Given the description of an element on the screen output the (x, y) to click on. 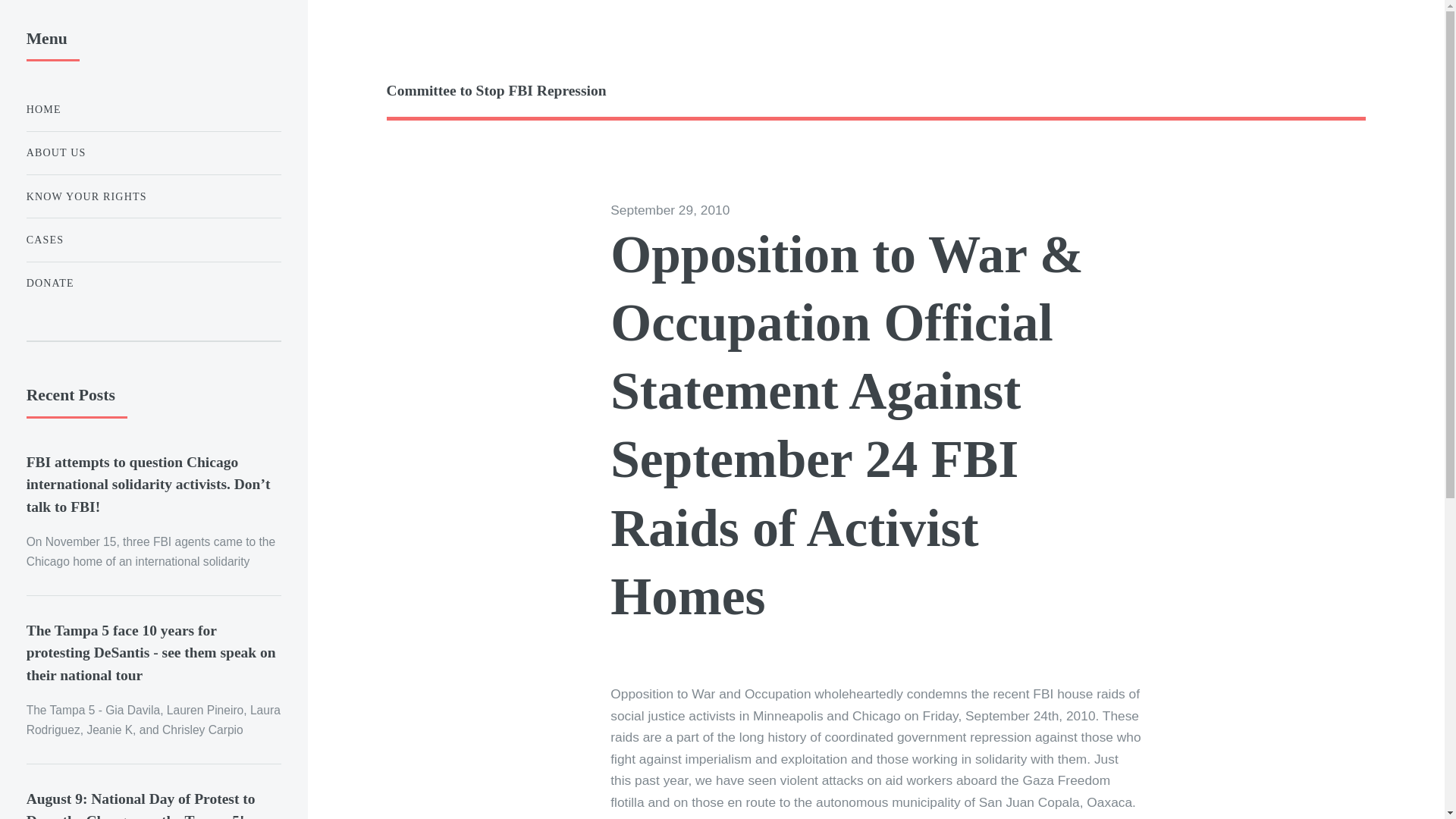
ABOUT US (153, 153)
HOME (153, 109)
Committee to Stop FBI Repression (631, 90)
KNOW YOUR RIGHTS (153, 196)
CASES (153, 239)
DONATE (153, 283)
